Given the description of an element on the screen output the (x, y) to click on. 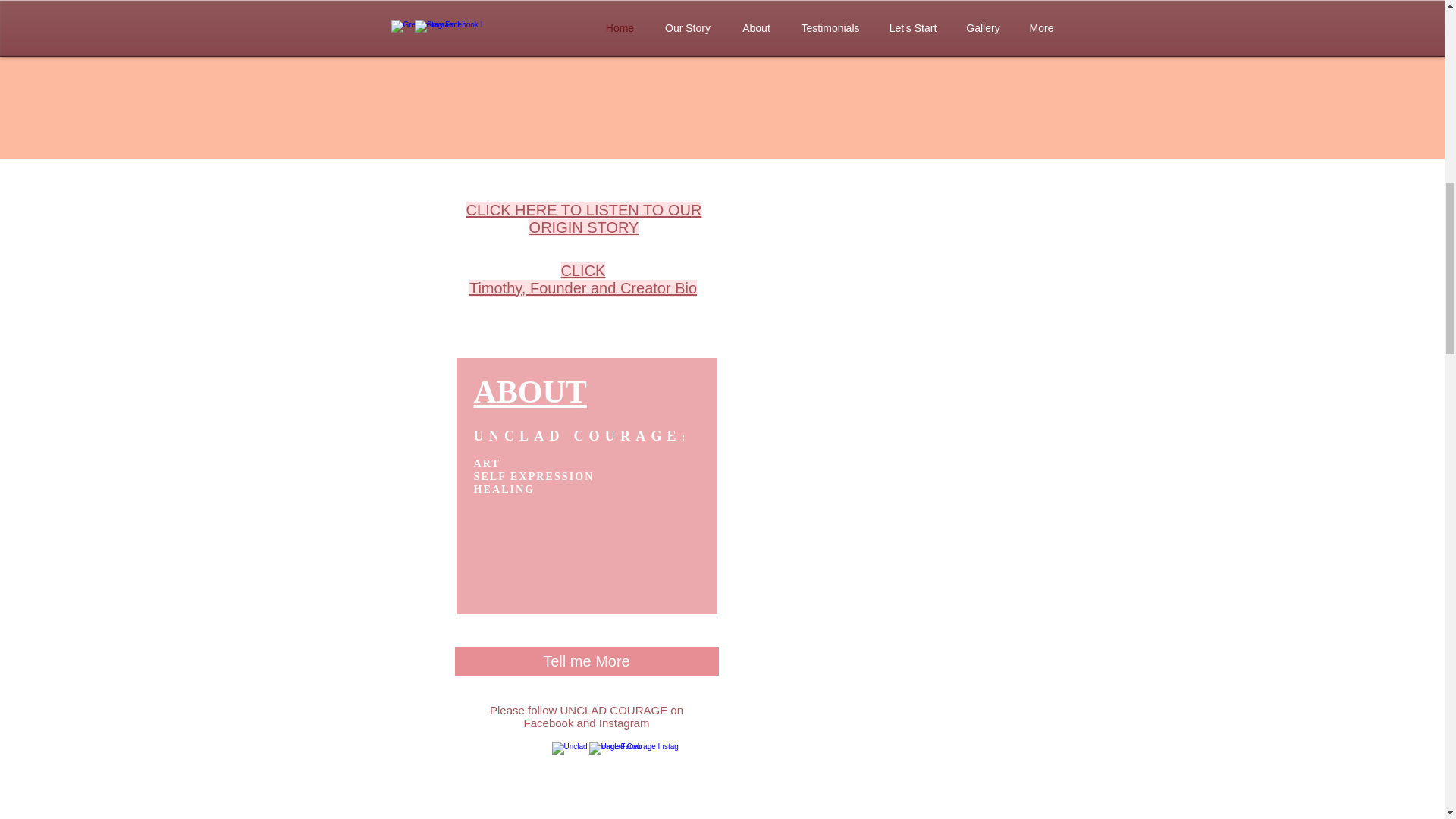
Tell me More (586, 660)
CLICK HERE TO LISTEN TO OUR ORIGIN STORY (582, 279)
ABOUT (583, 218)
